Given the description of an element on the screen output the (x, y) to click on. 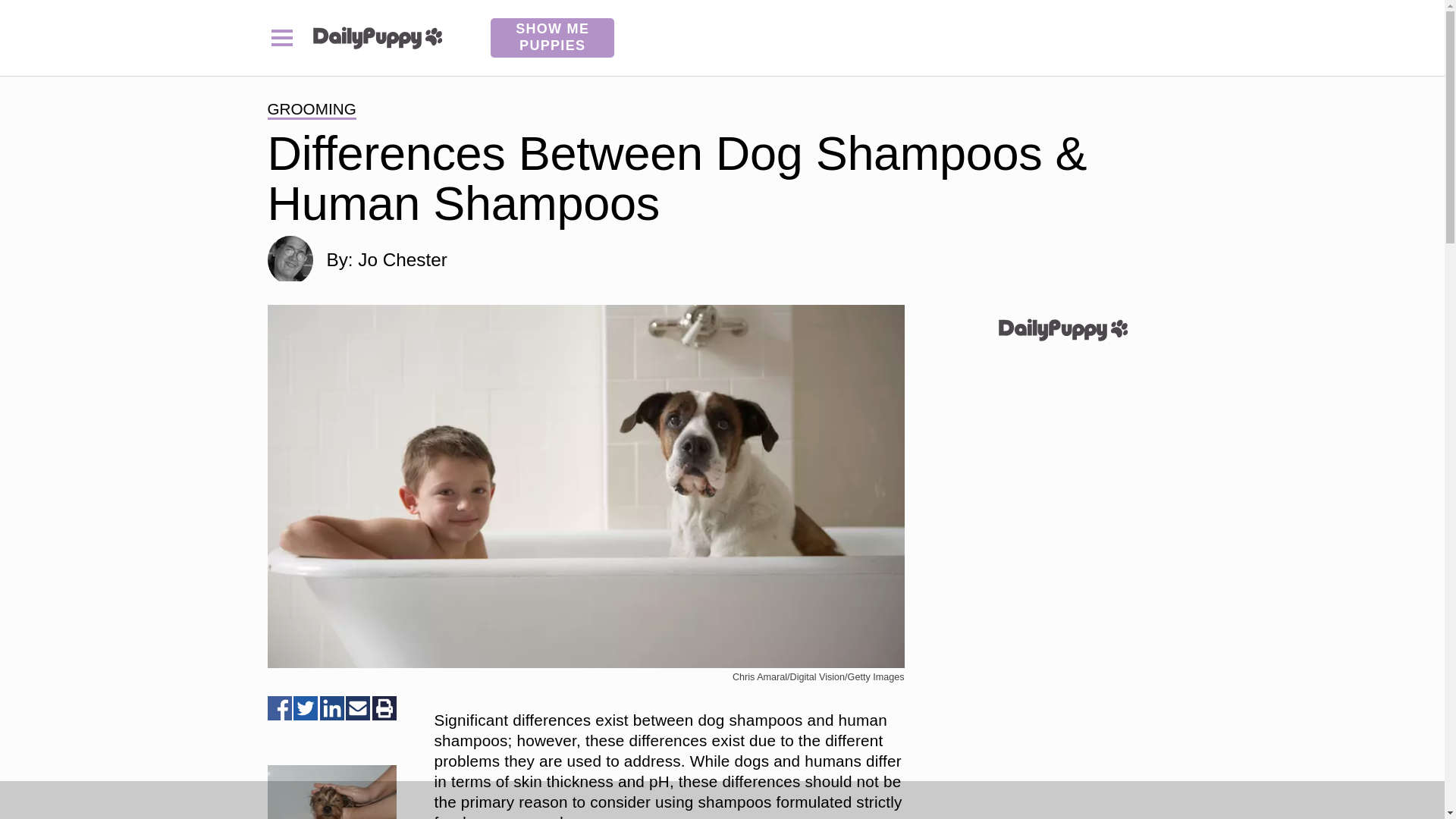
SHOW ME PUPPIES (552, 37)
